Given the description of an element on the screen output the (x, y) to click on. 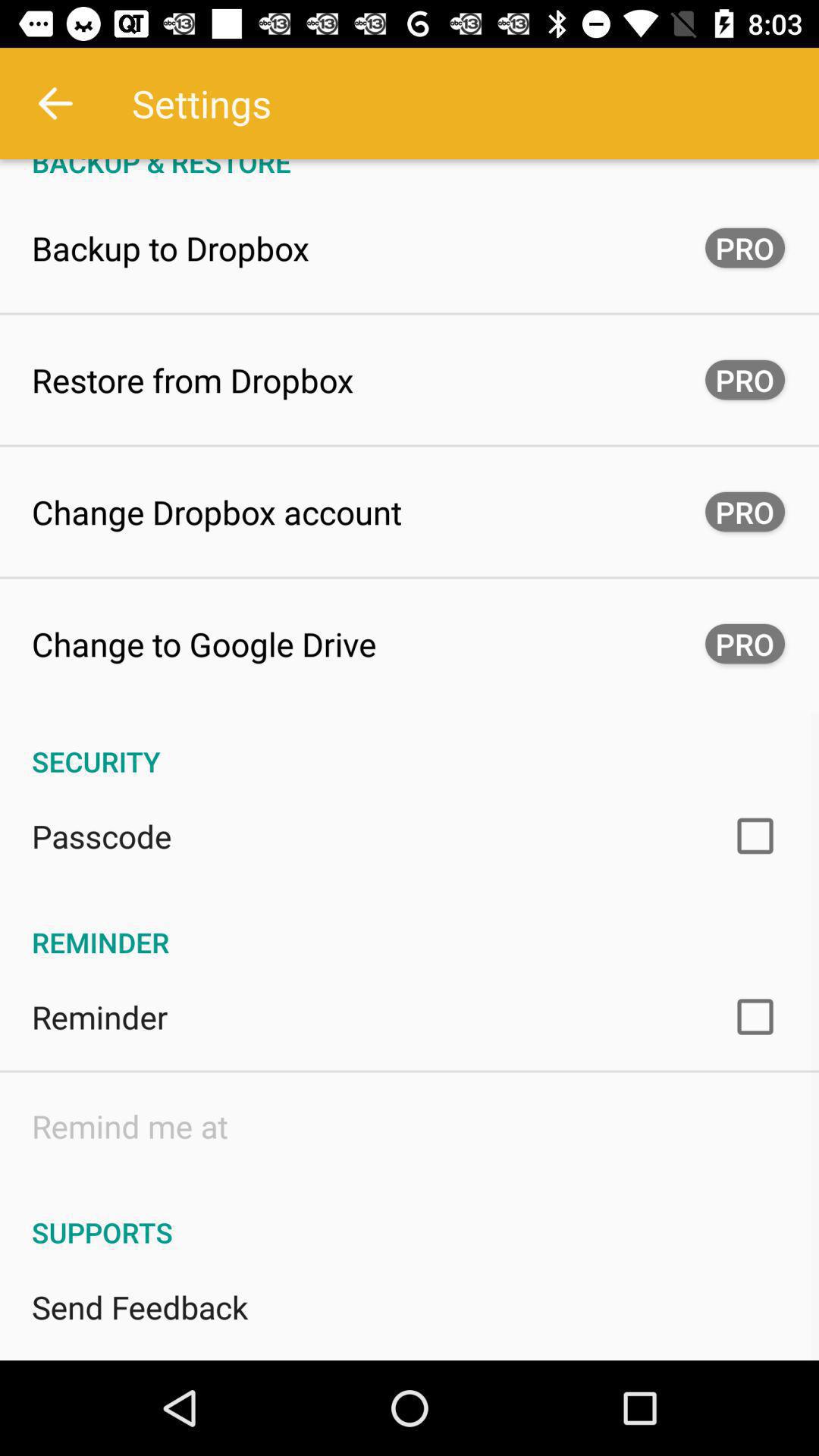
turn on icon to the left of the pro icon (203, 643)
